Given the description of an element on the screen output the (x, y) to click on. 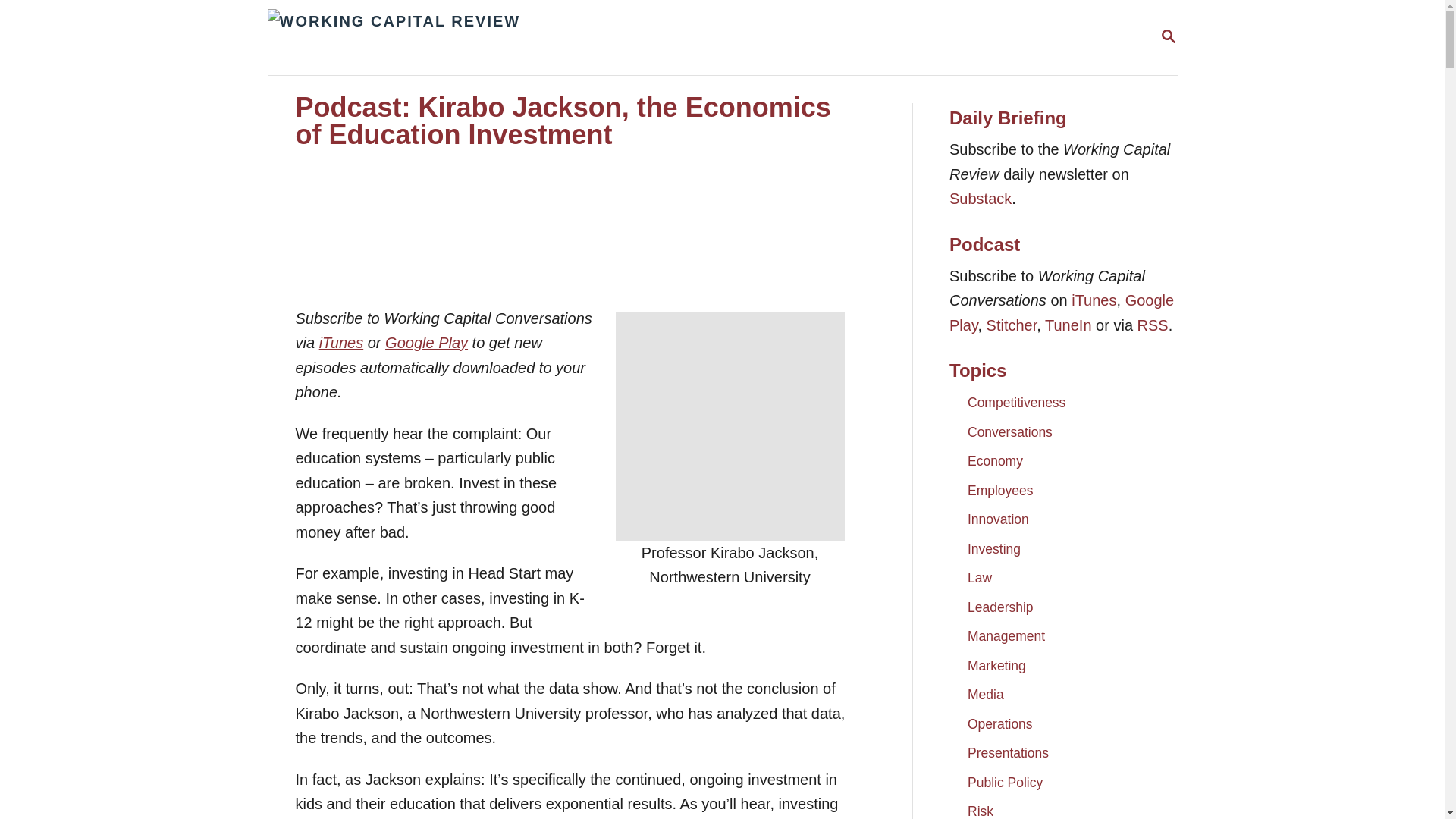
Risk (980, 806)
Operations (1000, 723)
Innovation (997, 519)
MAGNIFYING GLASS (1167, 36)
Substack (980, 198)
Law (979, 577)
Investing (994, 548)
Presentations (1008, 752)
iTunes (341, 342)
Leadership (1000, 606)
